Given the description of an element on the screen output the (x, y) to click on. 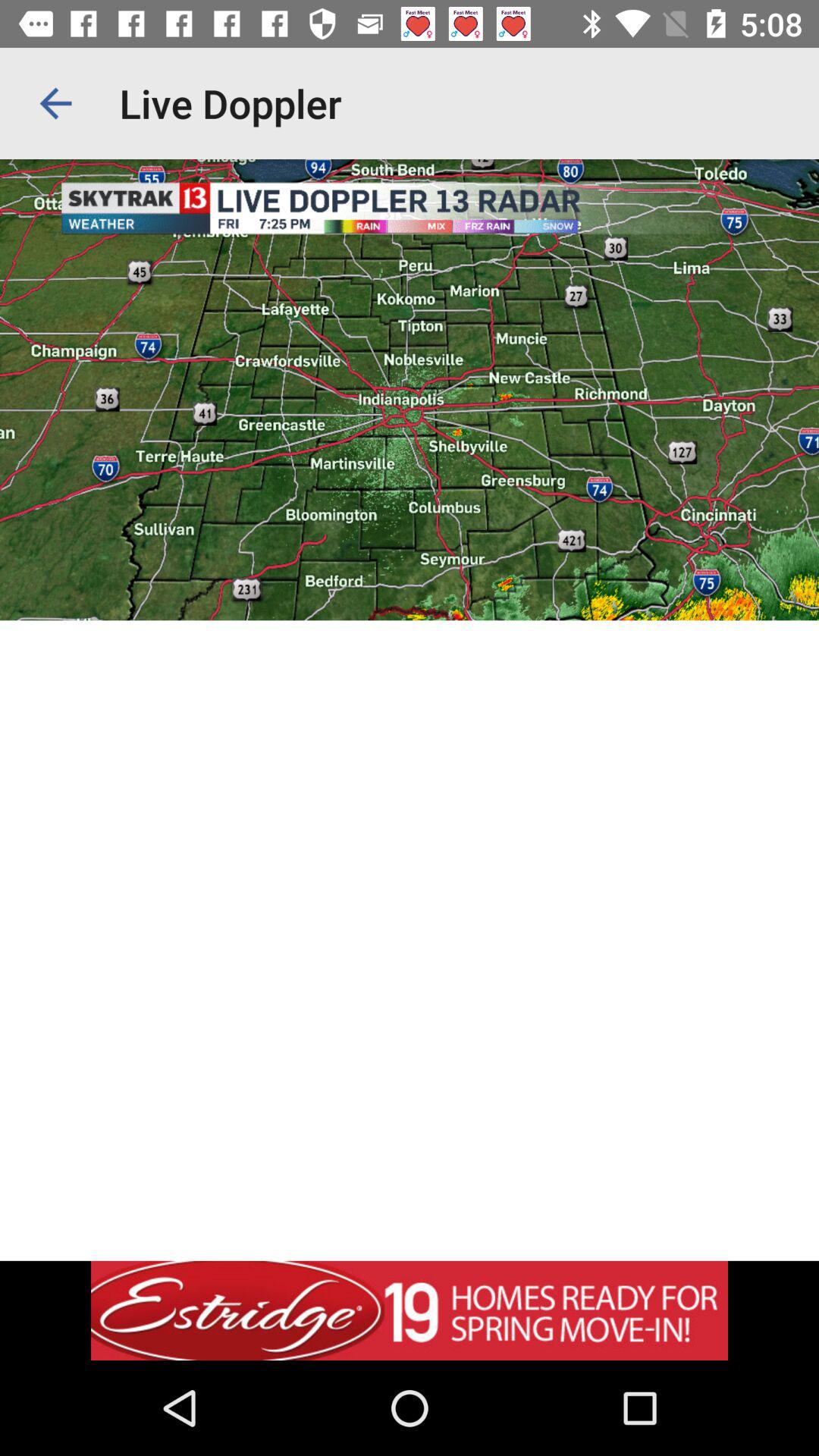
view advertisement (409, 1310)
